Given the description of an element on the screen output the (x, y) to click on. 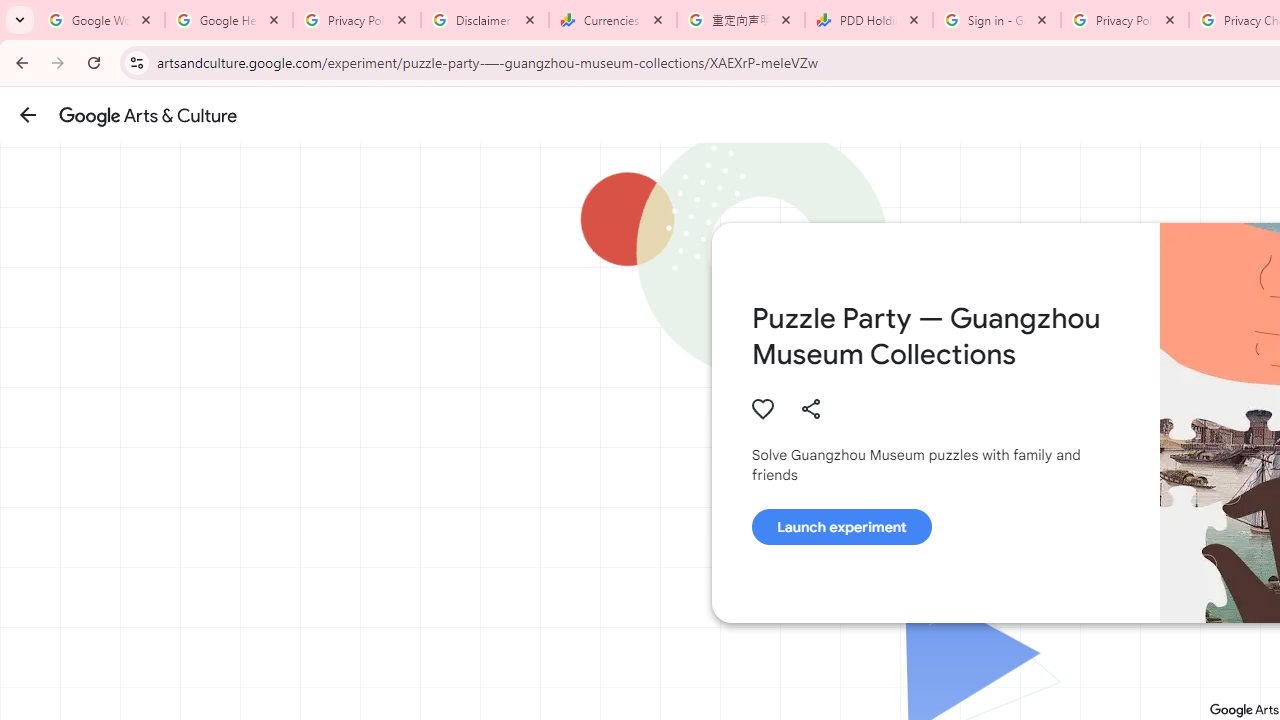
Currencies - Google Finance (613, 20)
Sign in - Google Accounts (997, 20)
Google Arts & Culture (148, 115)
Authenticate to favorite this asset. (762, 408)
Launch experiment (841, 527)
Google Workspace Admin Community (101, 20)
